Given the description of an element on the screen output the (x, y) to click on. 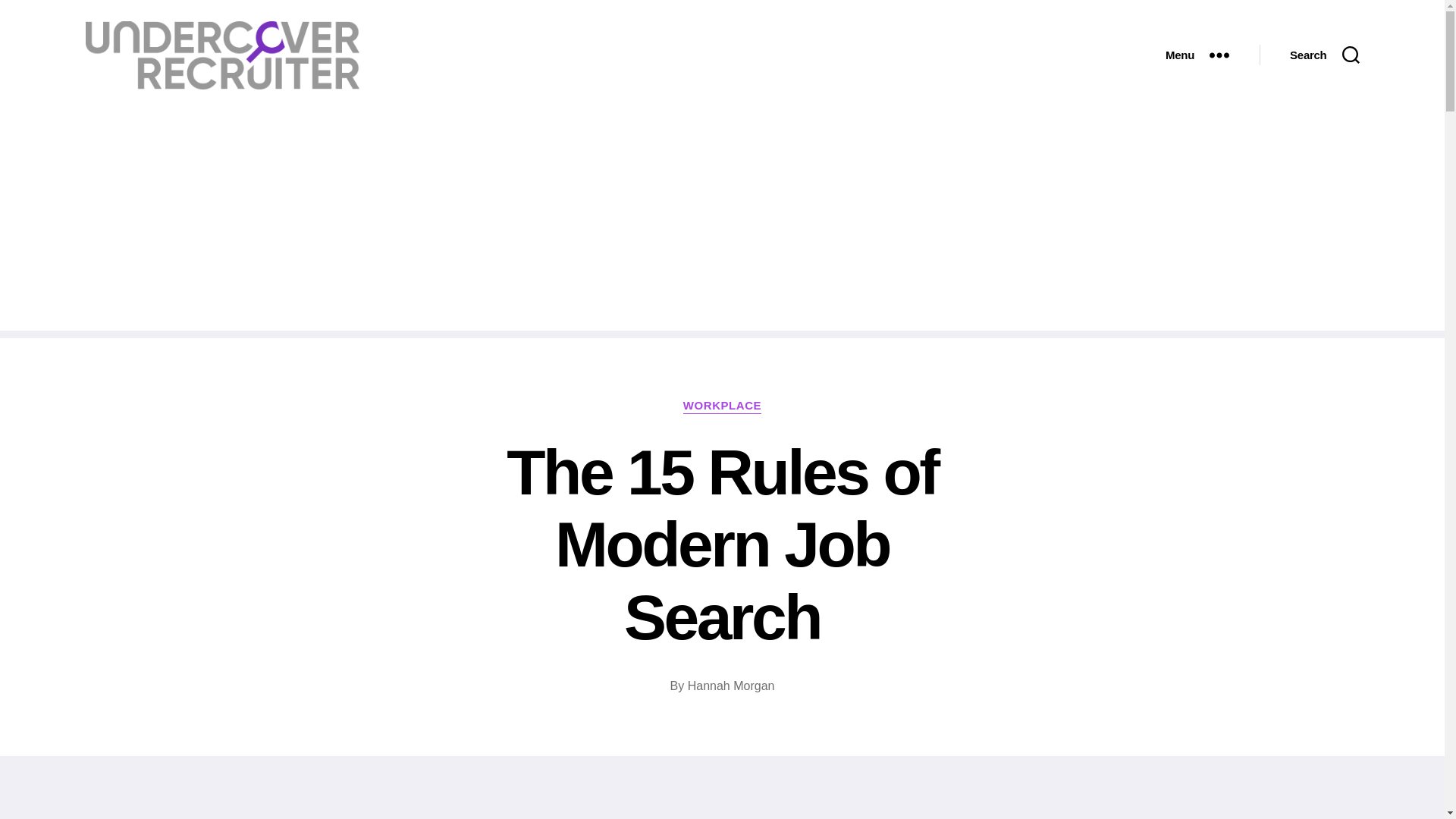
Search (1324, 55)
Menu (1197, 55)
Hannah Morgan (730, 685)
WORKPLACE (721, 406)
